Given the description of an element on the screen output the (x, y) to click on. 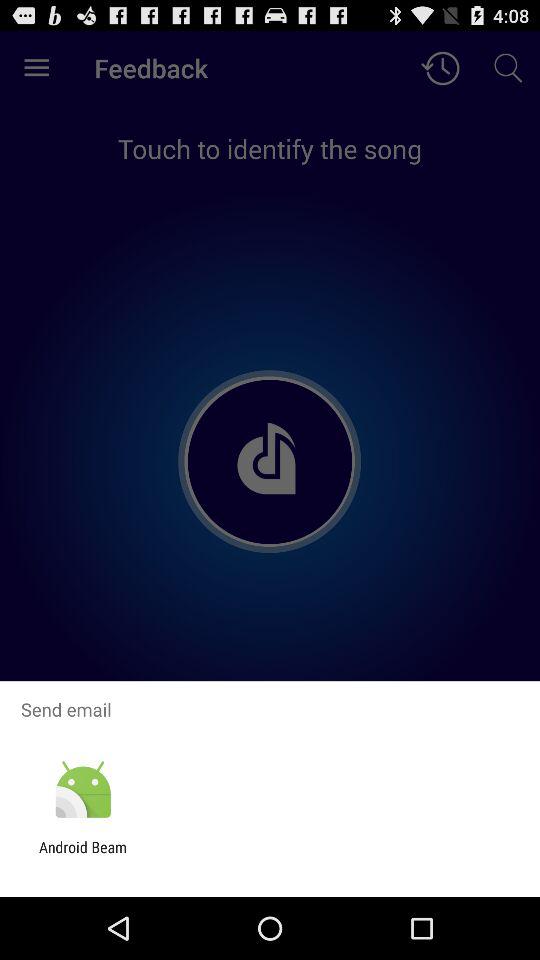
click app above the android beam icon (82, 789)
